Given the description of an element on the screen output the (x, y) to click on. 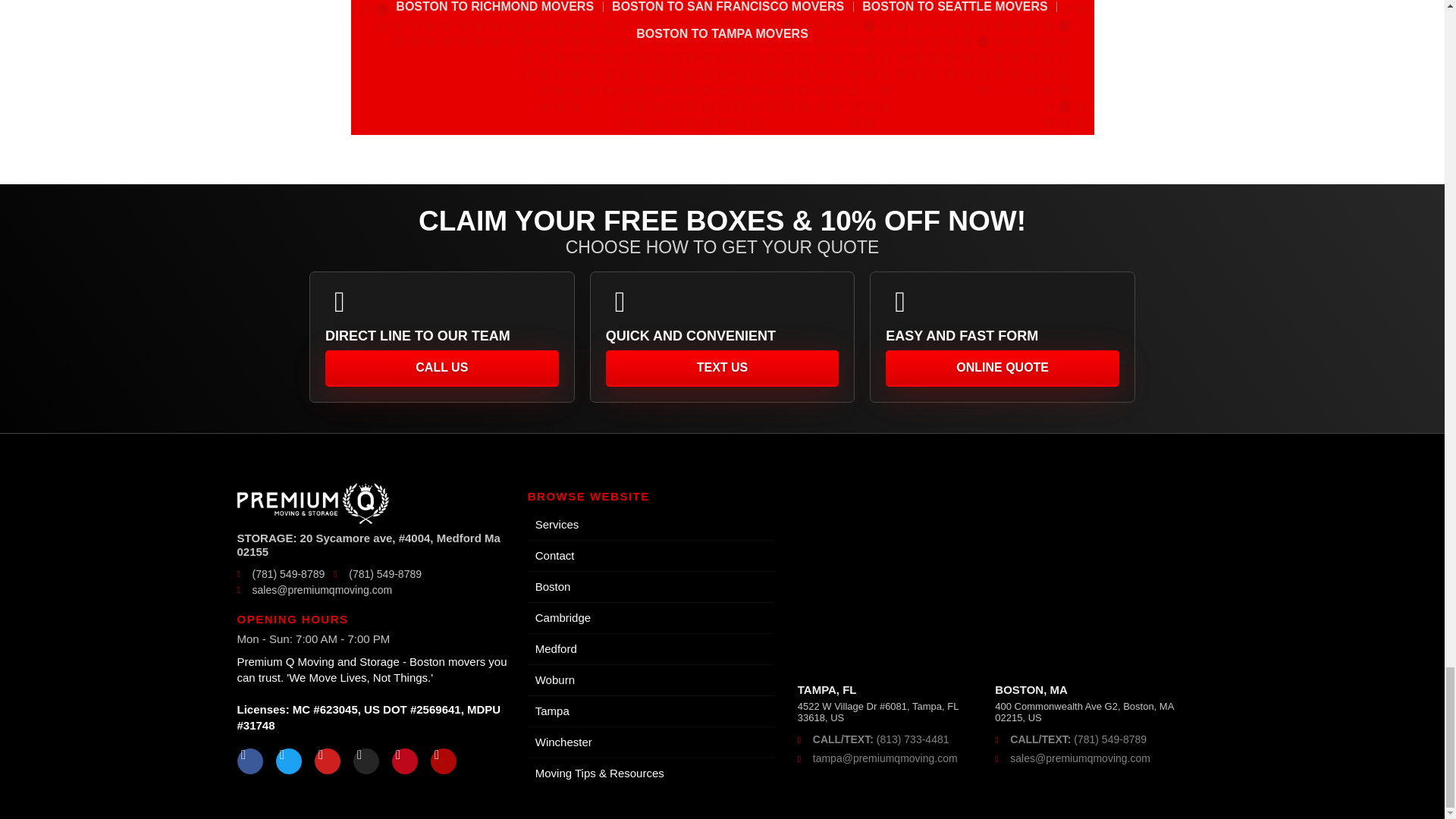
premium q moving boston (997, 577)
